Given the description of an element on the screen output the (x, y) to click on. 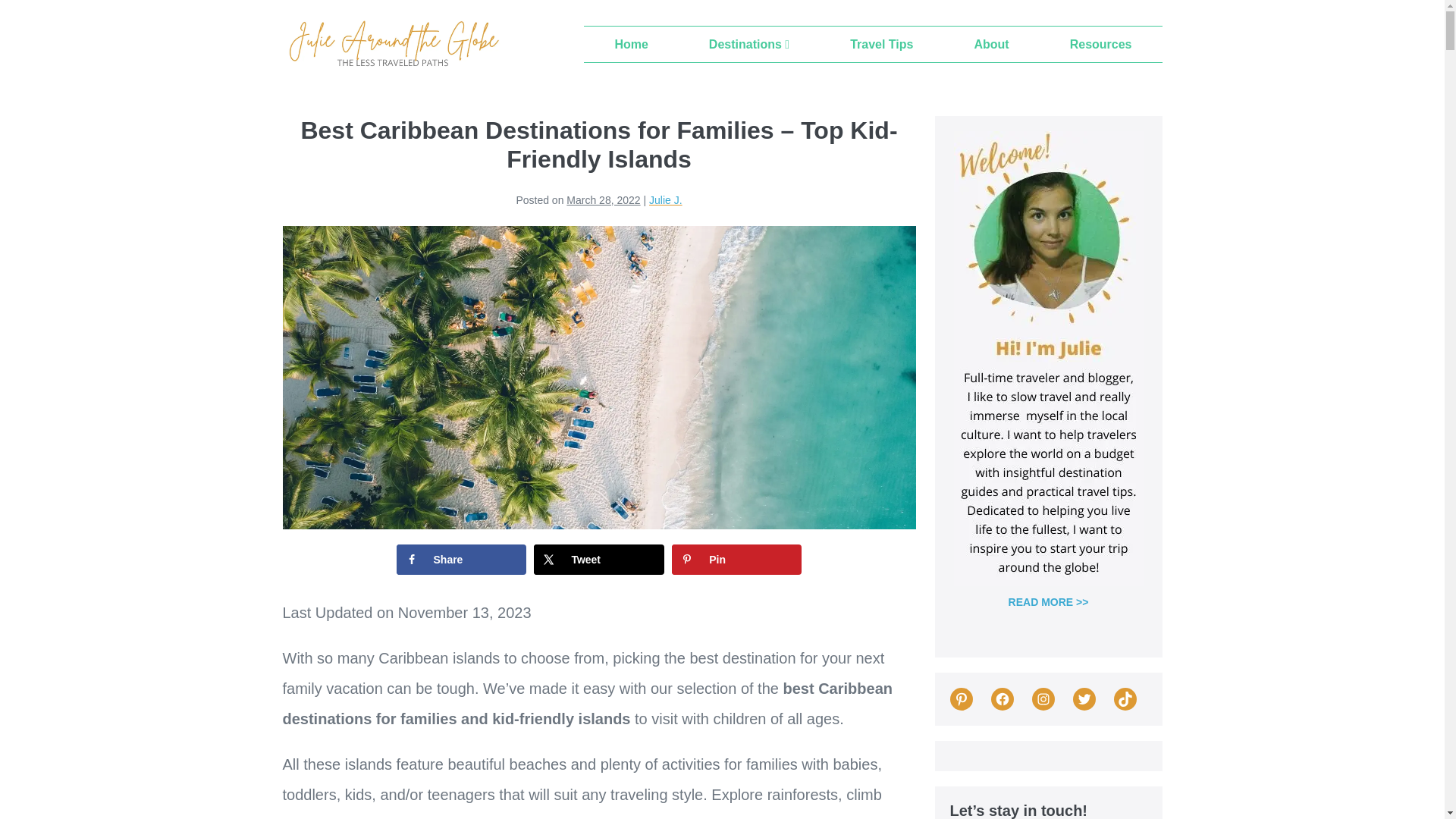
Save to Pinterest (736, 559)
Share on Facebook (460, 559)
Destinations (748, 44)
Home (630, 44)
Julie Around The Globe (392, 44)
Share on X (598, 559)
View all posts by Julie J. (665, 200)
